Given the description of an element on the screen output the (x, y) to click on. 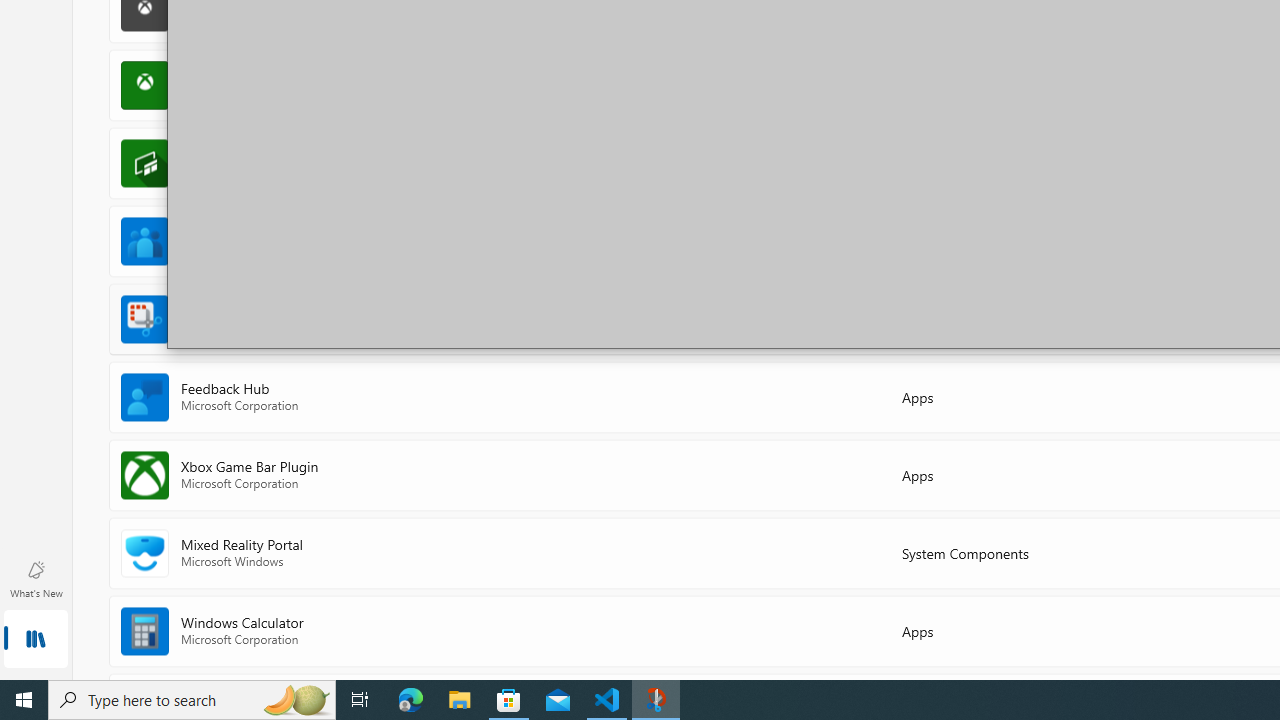
Start (24, 699)
Task View (359, 699)
File Explorer (460, 699)
What's New (35, 578)
Library (35, 640)
Search highlights icon opens search home window (295, 699)
Visual Studio Code - 1 running window (607, 699)
Microsoft Store - 1 running window (509, 699)
Microsoft Edge (411, 699)
Type here to search (191, 699)
Snip & Sketch - 1 running window (656, 699)
